Given the description of an element on the screen output the (x, y) to click on. 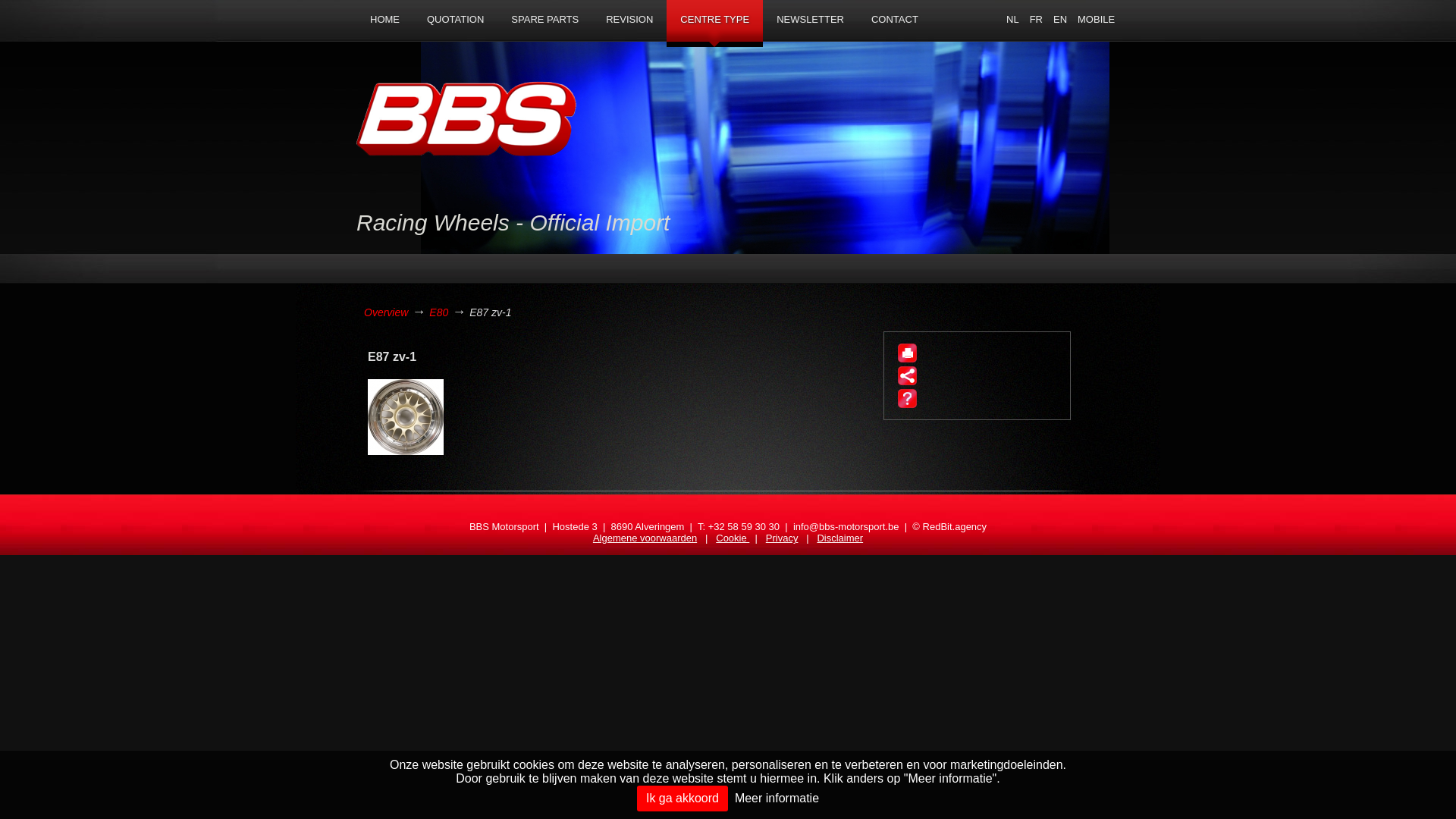
Cookie Element type: text (732, 537)
Algemene voorwaarden Element type: text (644, 537)
MOBILE Element type: text (1096, 19)
HOME Element type: text (384, 19)
Overview Element type: text (385, 312)
CENTRE TYPE Element type: text (714, 23)
Disclaimer Element type: text (839, 537)
QUOTATION Element type: text (455, 19)
REVISION Element type: text (629, 19)
Privacy Element type: text (781, 537)
FR Element type: text (1036, 19)
SPARE PARTS Element type: text (544, 19)
Meer informatie Element type: text (776, 797)
CONTACT Element type: text (894, 19)
RedBit.agency Element type: text (954, 526)
info@bbs-motorsport.be Element type: text (846, 526)
E80 Element type: text (438, 312)
Ik ga akkoord Element type: text (682, 798)
EN Element type: text (1060, 19)
NL Element type: text (1012, 19)
NEWSLETTER Element type: text (809, 19)
